Given the description of an element on the screen output the (x, y) to click on. 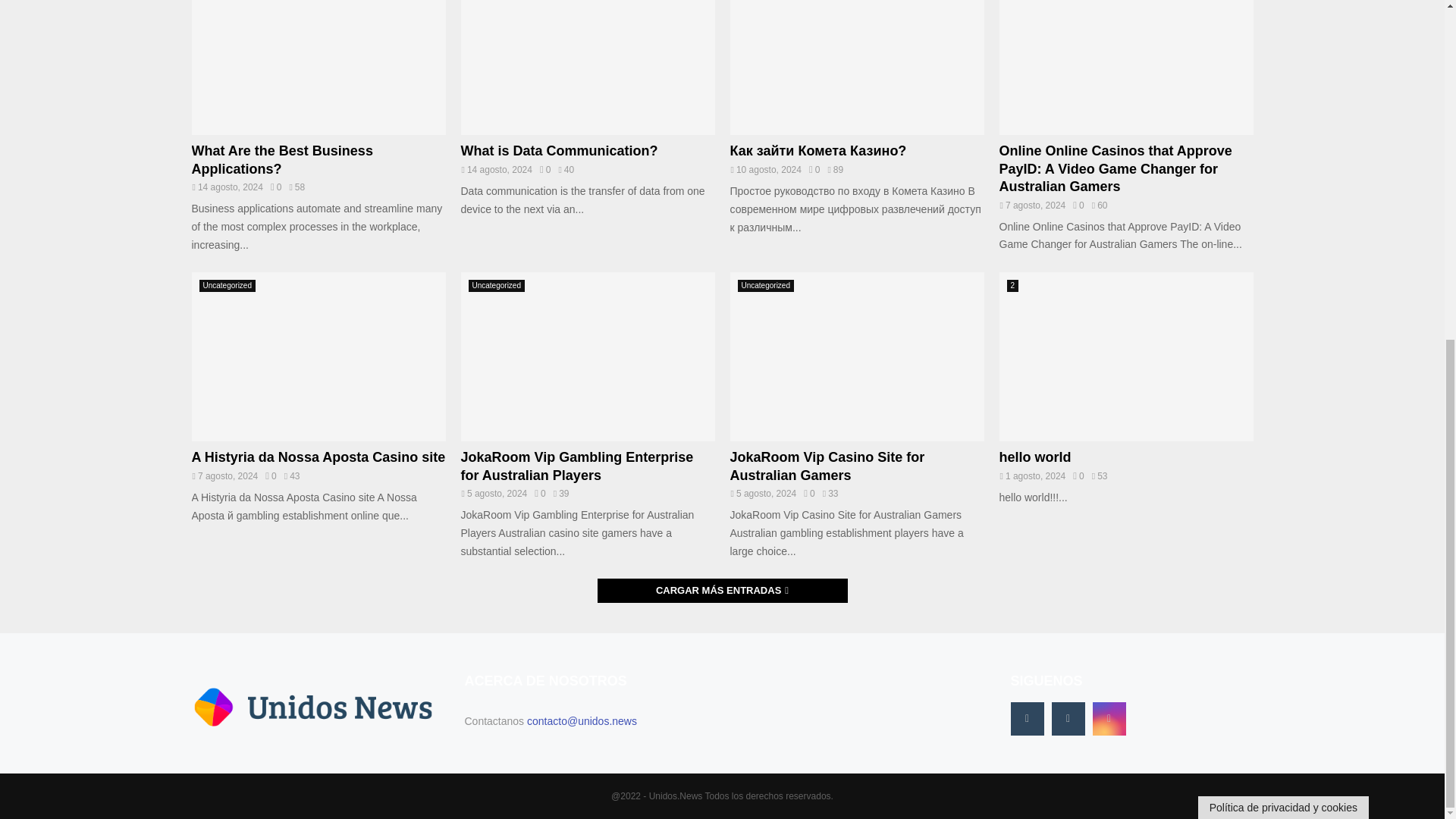
What is Data Communication? (587, 67)
What Are the Best Business Applications? (281, 159)
 What Are the Best Business Applications?  (281, 159)
 What is Data Communication?  (559, 150)
What Are the Best Business Applications? (317, 67)
